Given the description of an element on the screen output the (x, y) to click on. 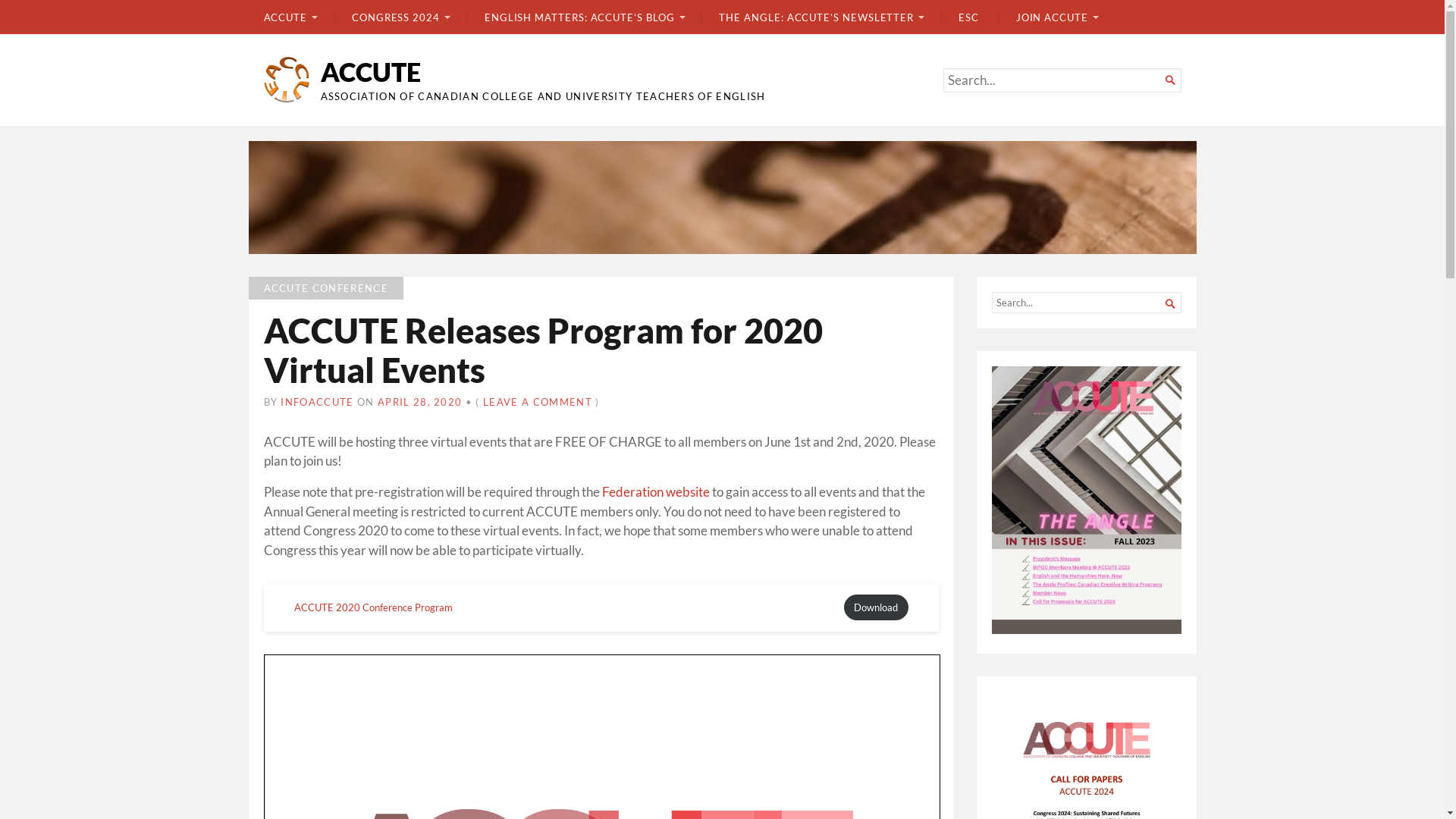
INFOACCUTE Element type: text (316, 401)
Download Element type: text (875, 607)
ESC Element type: text (958, 16)
Federation website Element type: text (655, 491)
LEAVE A COMMENT Element type: text (537, 401)
CONGRESS 2024 Element type: text (390, 16)
ACCUTE Element type: hover (722, 197)
JOIN ACCUTE Element type: text (1046, 16)
APRIL 28, 2020 Element type: text (419, 401)
ACCUTE Element type: text (370, 71)
ACCUTE Element type: text (289, 16)
ACCUTE 2020 Conference Program Element type: text (373, 607)
ACCUTE CONFERENCE Element type: text (325, 287)
